Given the description of an element on the screen output the (x, y) to click on. 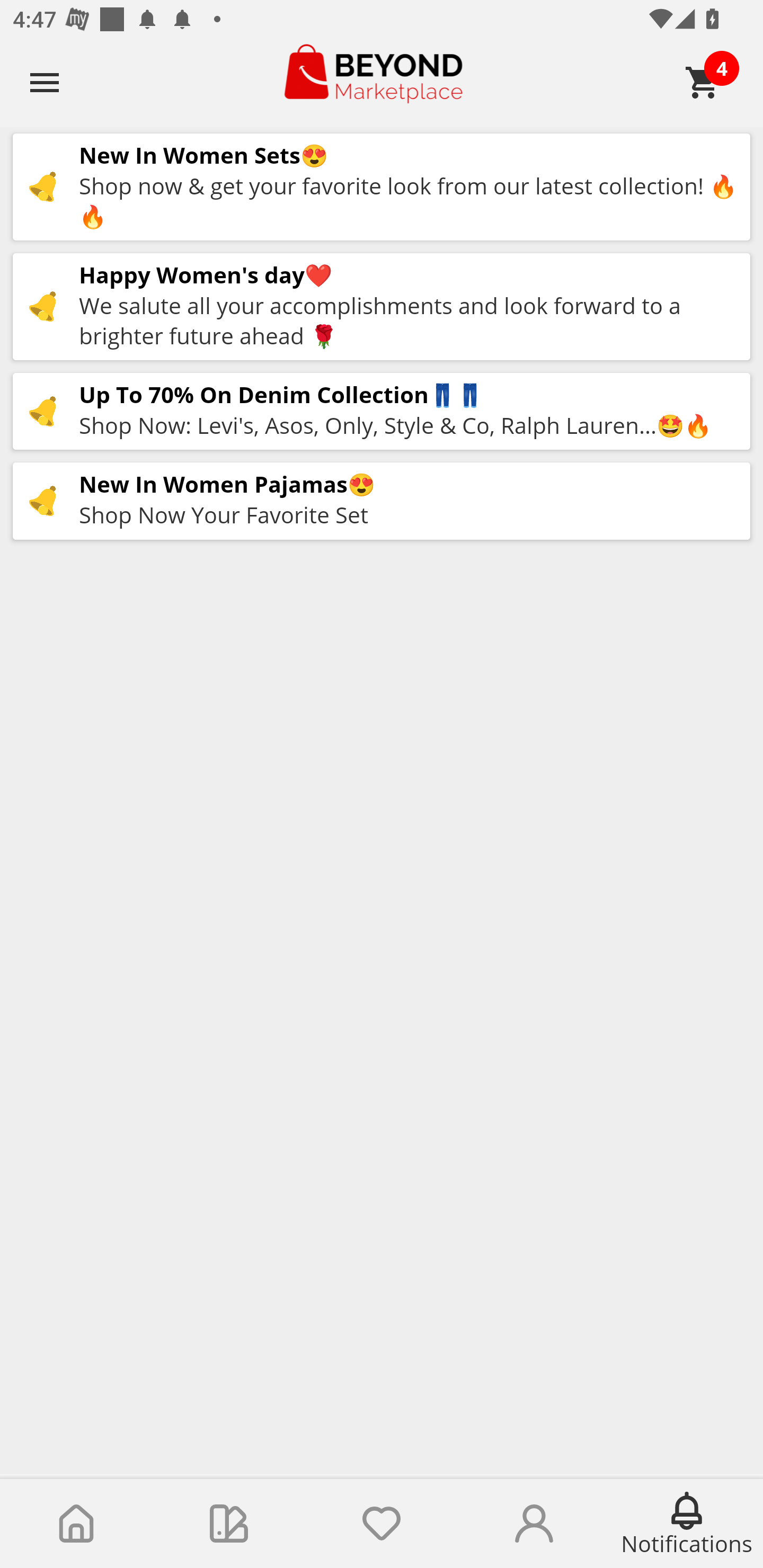
Navigate up (44, 82)
New In Women Pajamas😍 Shop Now Your Favorite Set (381, 500)
Home (76, 1523)
Collections (228, 1523)
Wishlist (381, 1523)
Account (533, 1523)
